Given the description of an element on the screen output the (x, y) to click on. 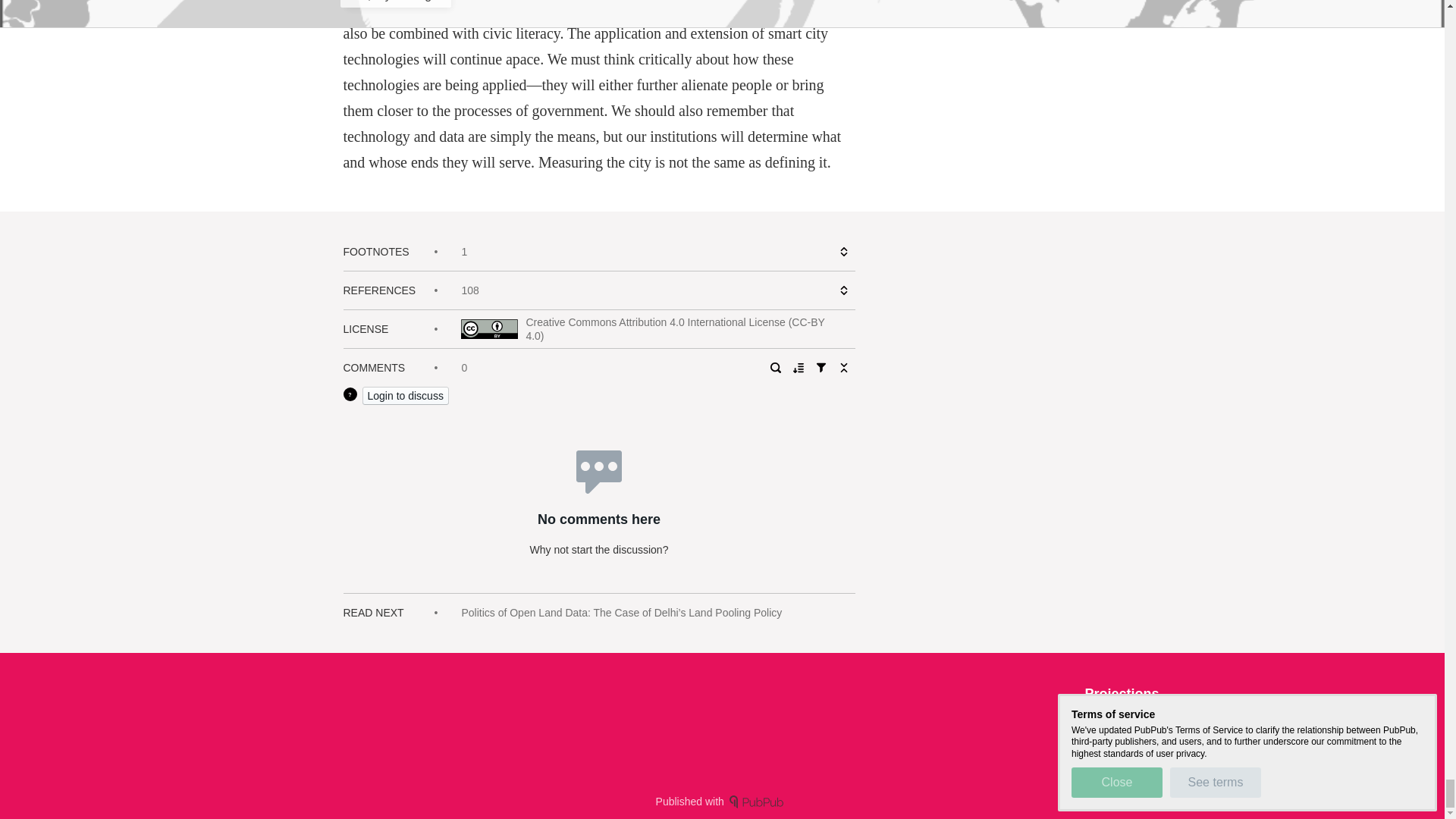
RSS (1104, 720)
Projections (1121, 693)
Published with (722, 801)
Legal (1145, 720)
Login to discuss (405, 395)
